Given the description of an element on the screen output the (x, y) to click on. 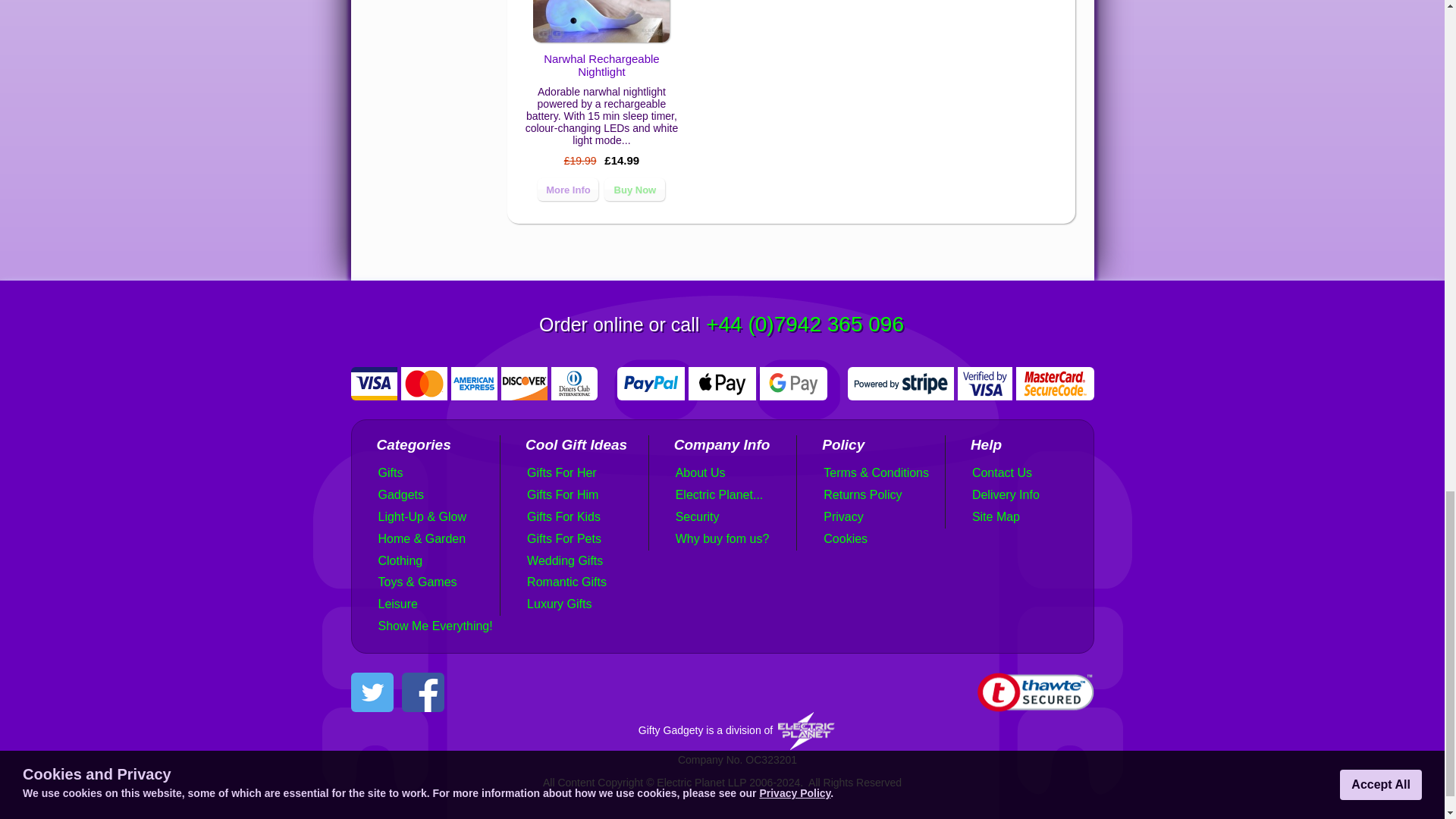
Gifty Gadgety is secured by SSL (1034, 707)
Gifty Gadgety also accepts PayPal, Apple Pay and Google Pay (722, 373)
Like Gifty Gadgety on Facebook (422, 707)
Follow Gifty Gadgety on Twitter (371, 707)
